Given the description of an element on the screen output the (x, y) to click on. 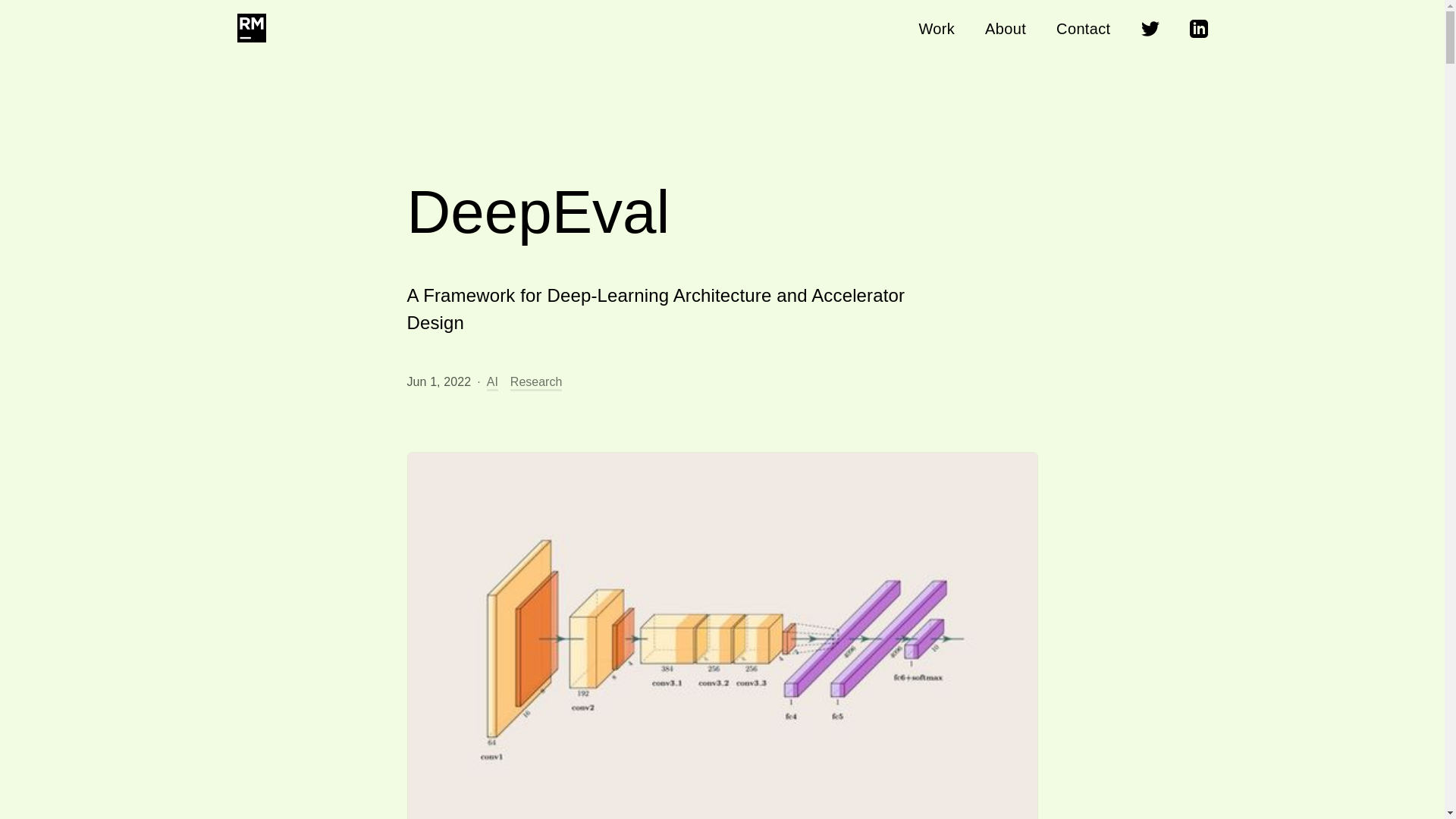
RM-logo-default (249, 27)
LinkedIn icon (1198, 28)
LinkedIn icon (1198, 28)
RM-logo-default (249, 28)
Twitter icon (1149, 28)
About (1005, 28)
Work (936, 28)
Contact (1083, 28)
Twitter icon (1149, 28)
Research (536, 382)
